Given the description of an element on the screen output the (x, y) to click on. 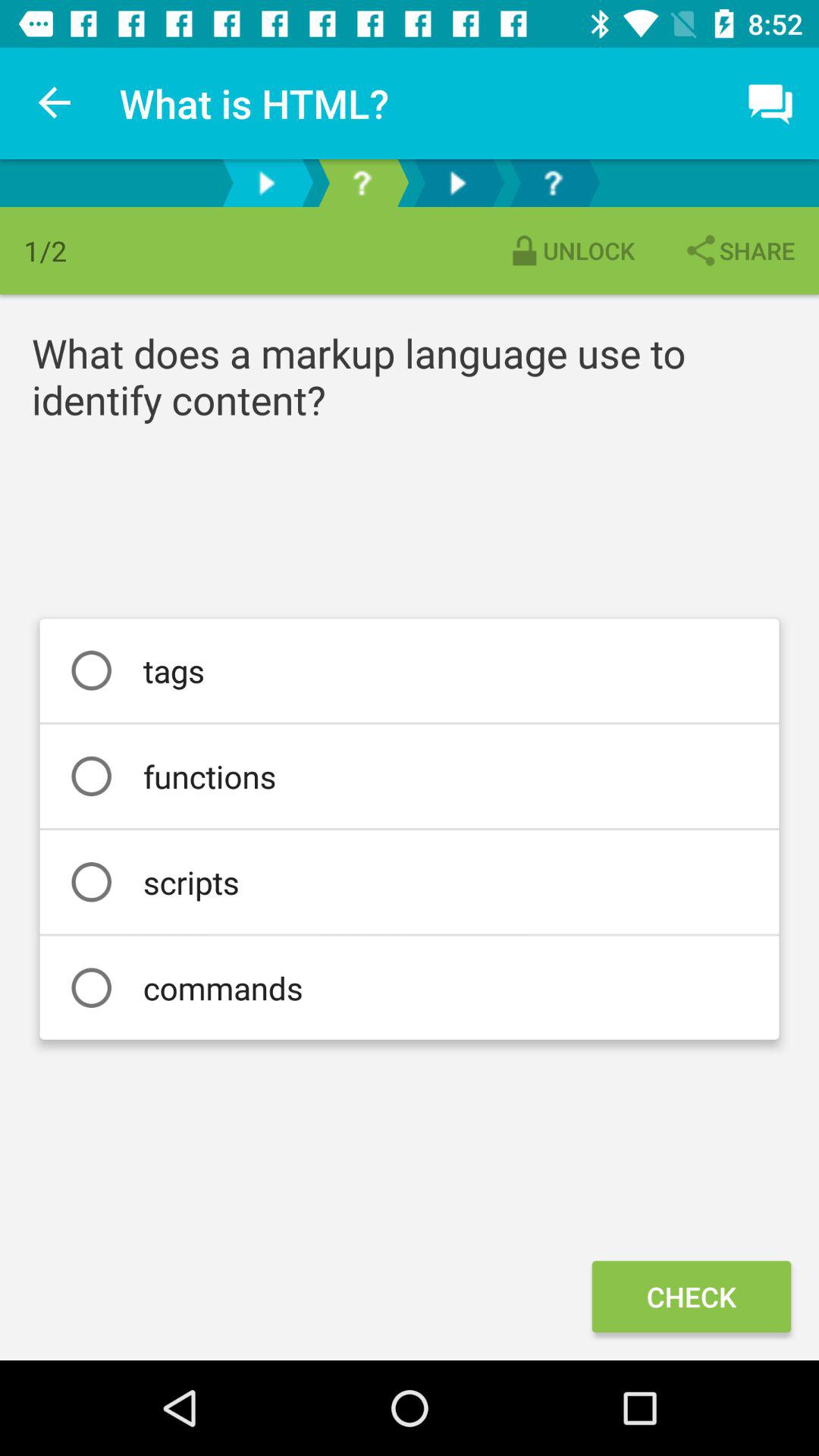
open next tab (457, 183)
